Given the description of an element on the screen output the (x, y) to click on. 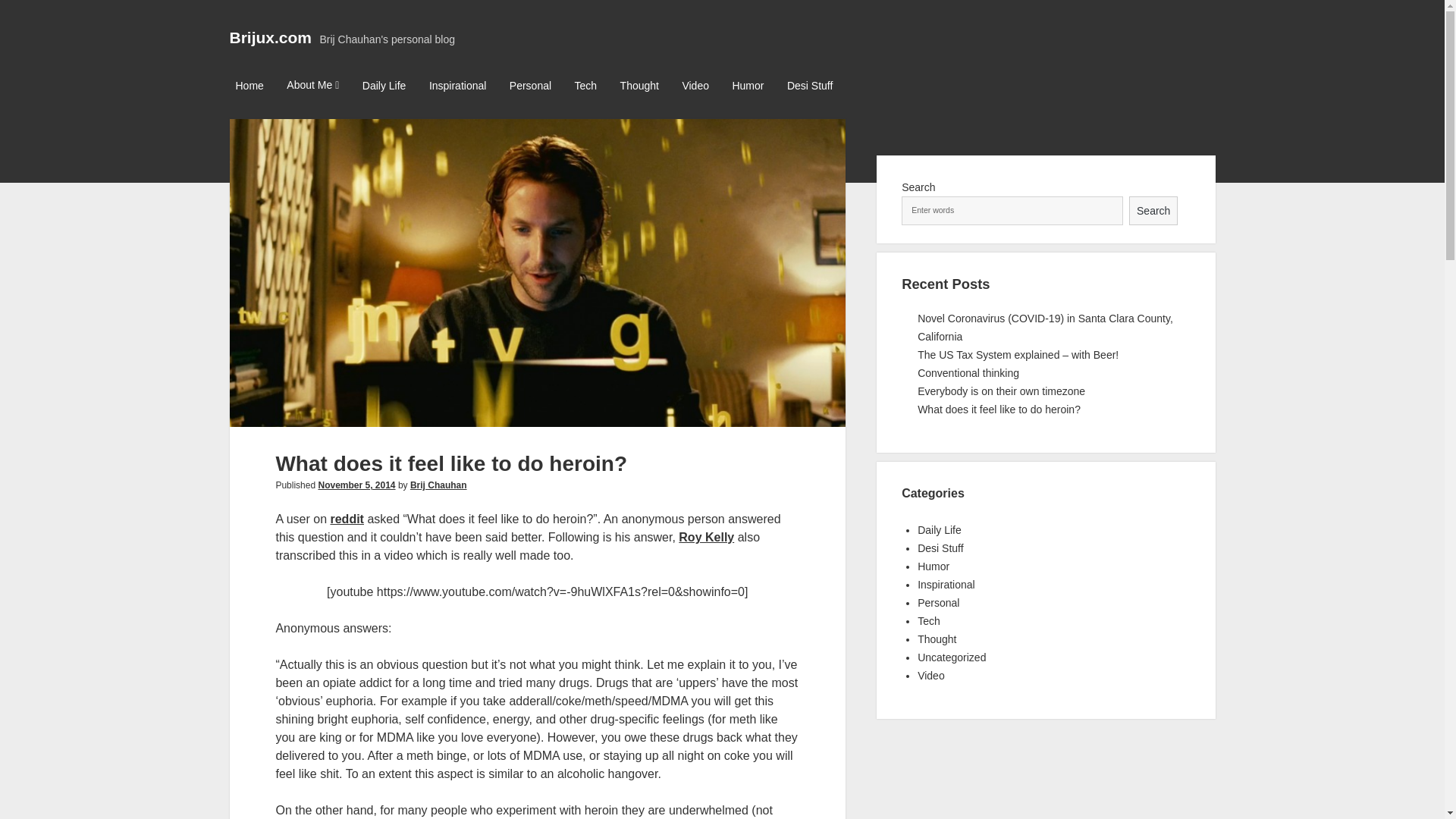
Roy Kelly's youtube channel  (705, 536)
Desi Stuff (809, 85)
Thought (639, 85)
Roy Kelly (705, 536)
Daily Life (938, 530)
Inspirational (458, 85)
Daily Life (384, 85)
Desi Stuff (939, 548)
Personal (938, 603)
Reddit comment link (346, 518)
